Given the description of an element on the screen output the (x, y) to click on. 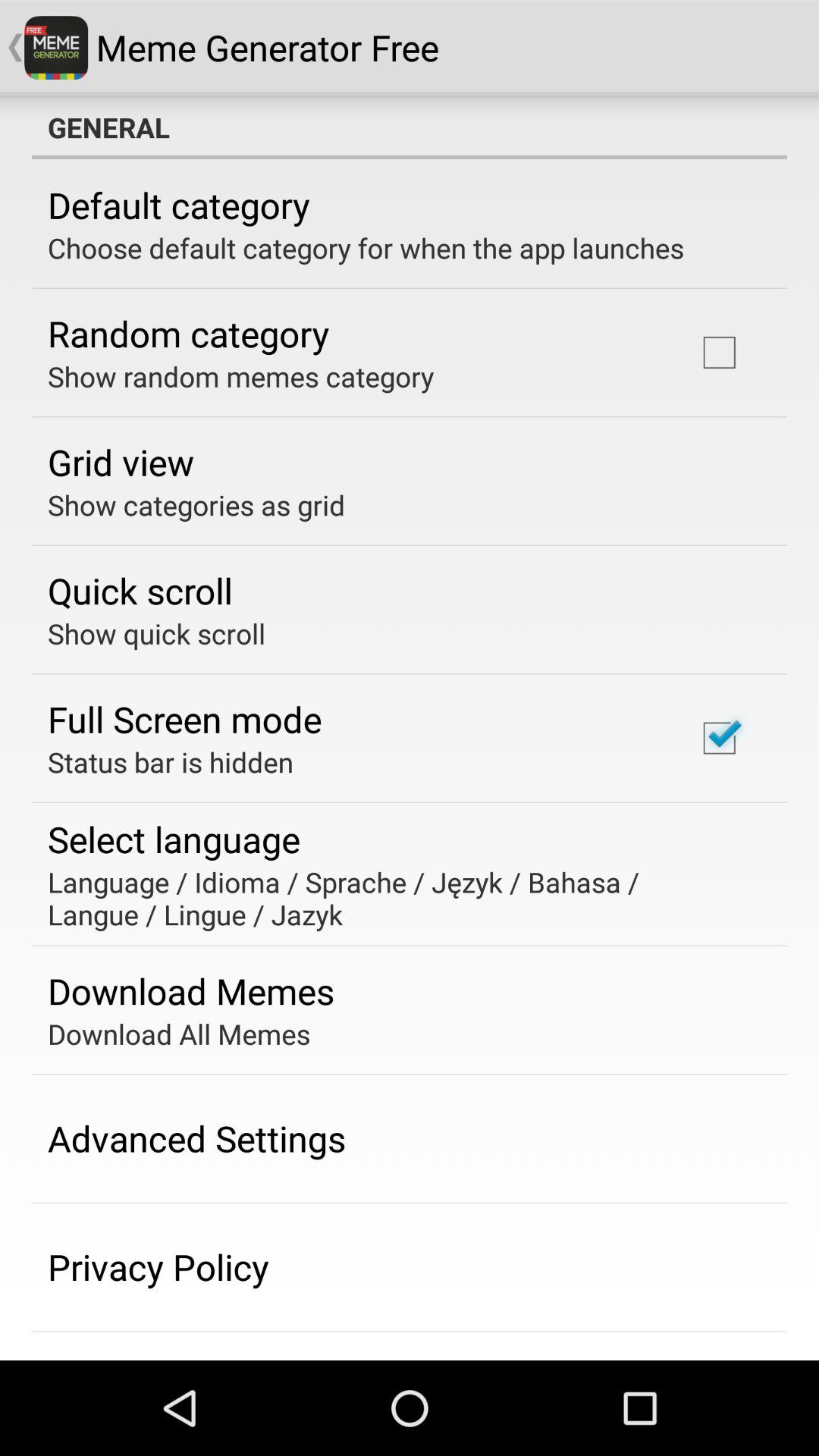
choose item below advanced settings item (158, 1266)
